Given the description of an element on the screen output the (x, y) to click on. 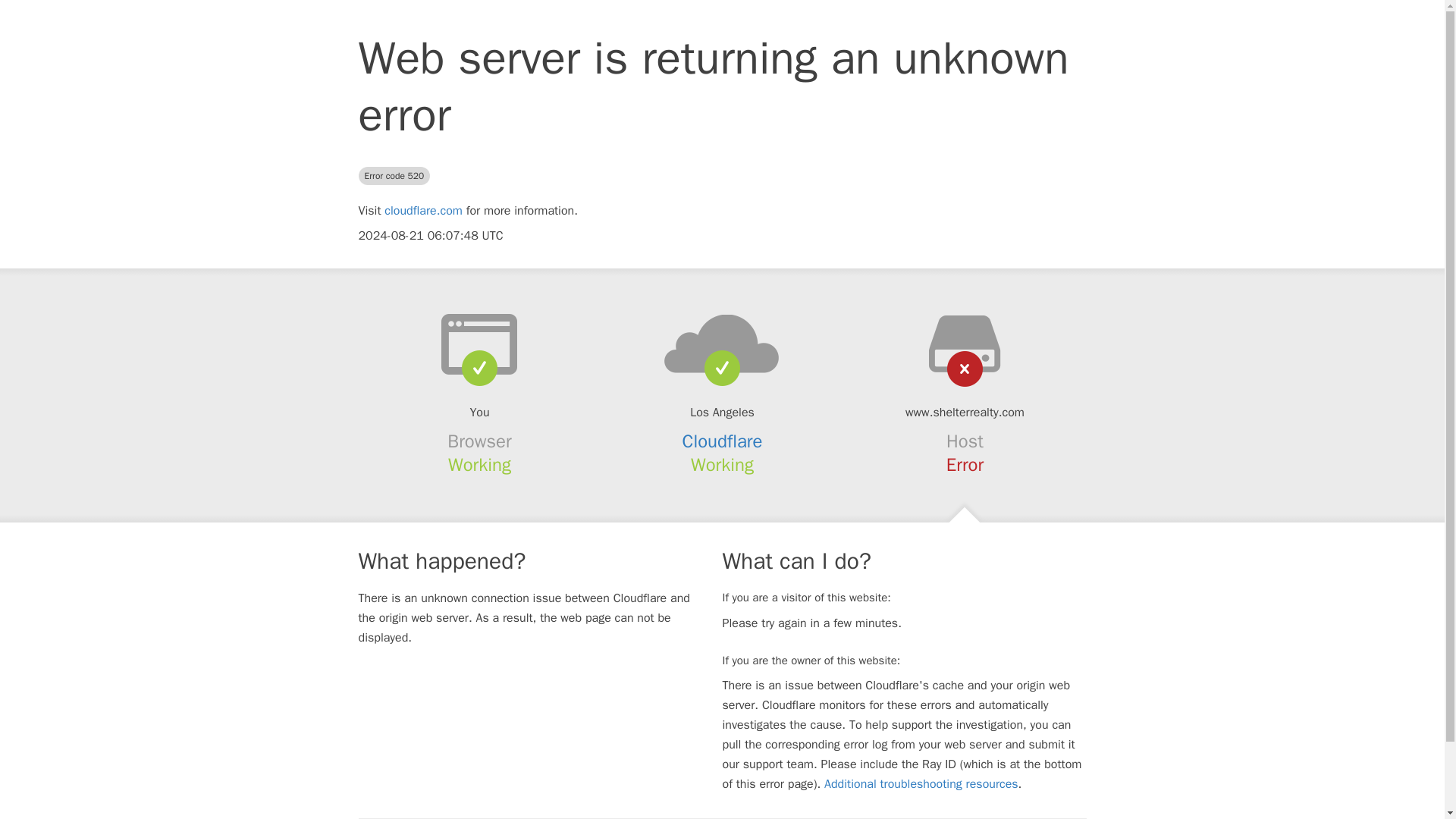
cloudflare.com (423, 210)
Additional troubleshooting resources (920, 783)
Cloudflare (722, 440)
